Given the description of an element on the screen output the (x, y) to click on. 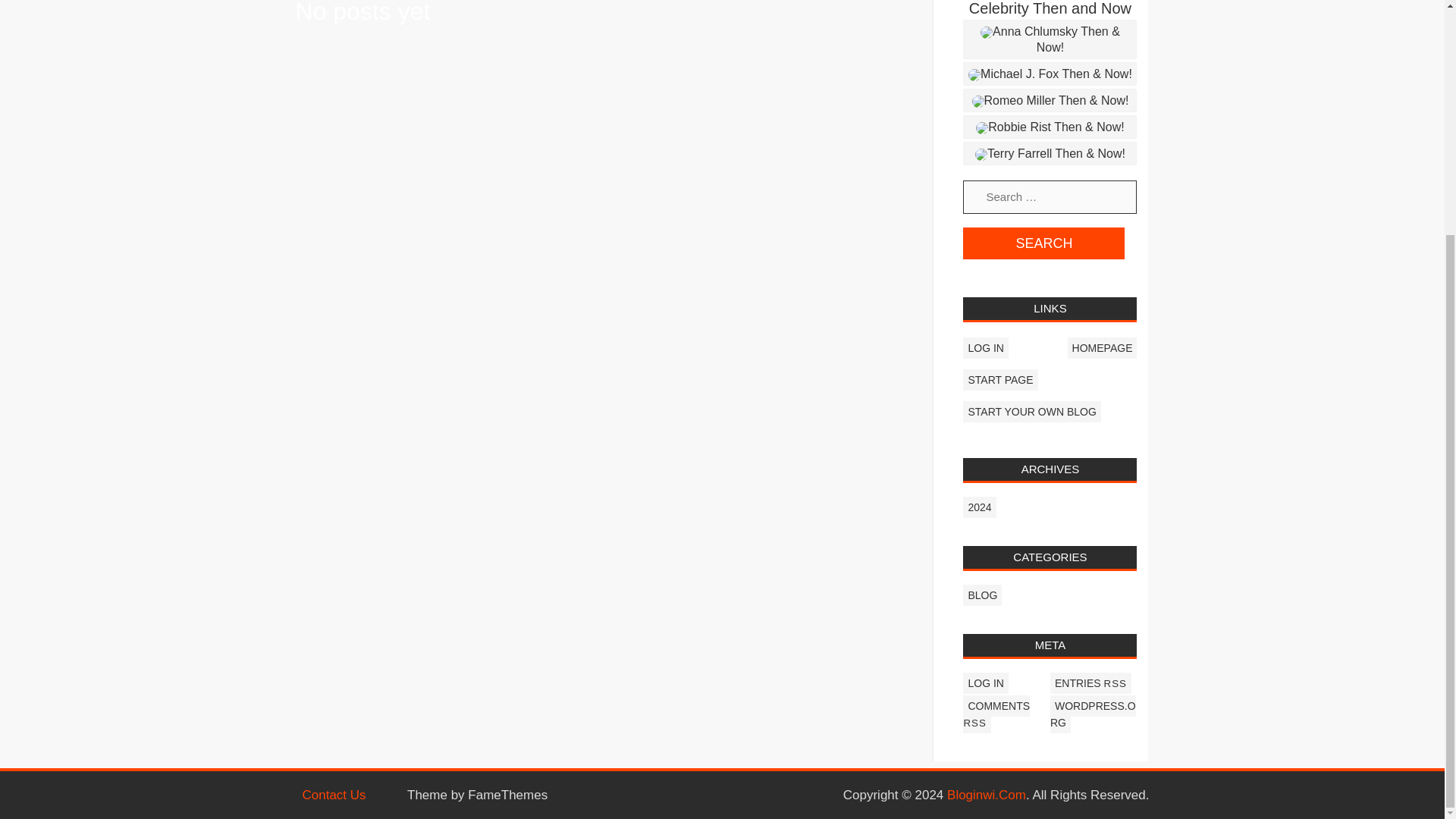
LOG IN (984, 682)
WORDPRESS.ORG (1092, 714)
Really Simple Syndication (973, 722)
Search (1043, 243)
ENTRIES RSS (1090, 682)
START PAGE (999, 379)
2024 (978, 506)
Bloginwi.Com (986, 796)
Search (1043, 243)
START YOUR OWN BLOG (1031, 411)
Really Simple Syndication (1114, 683)
HOMEPAGE (1102, 347)
Contact Us (333, 796)
LOG IN (984, 347)
